Given the description of an element on the screen output the (x, y) to click on. 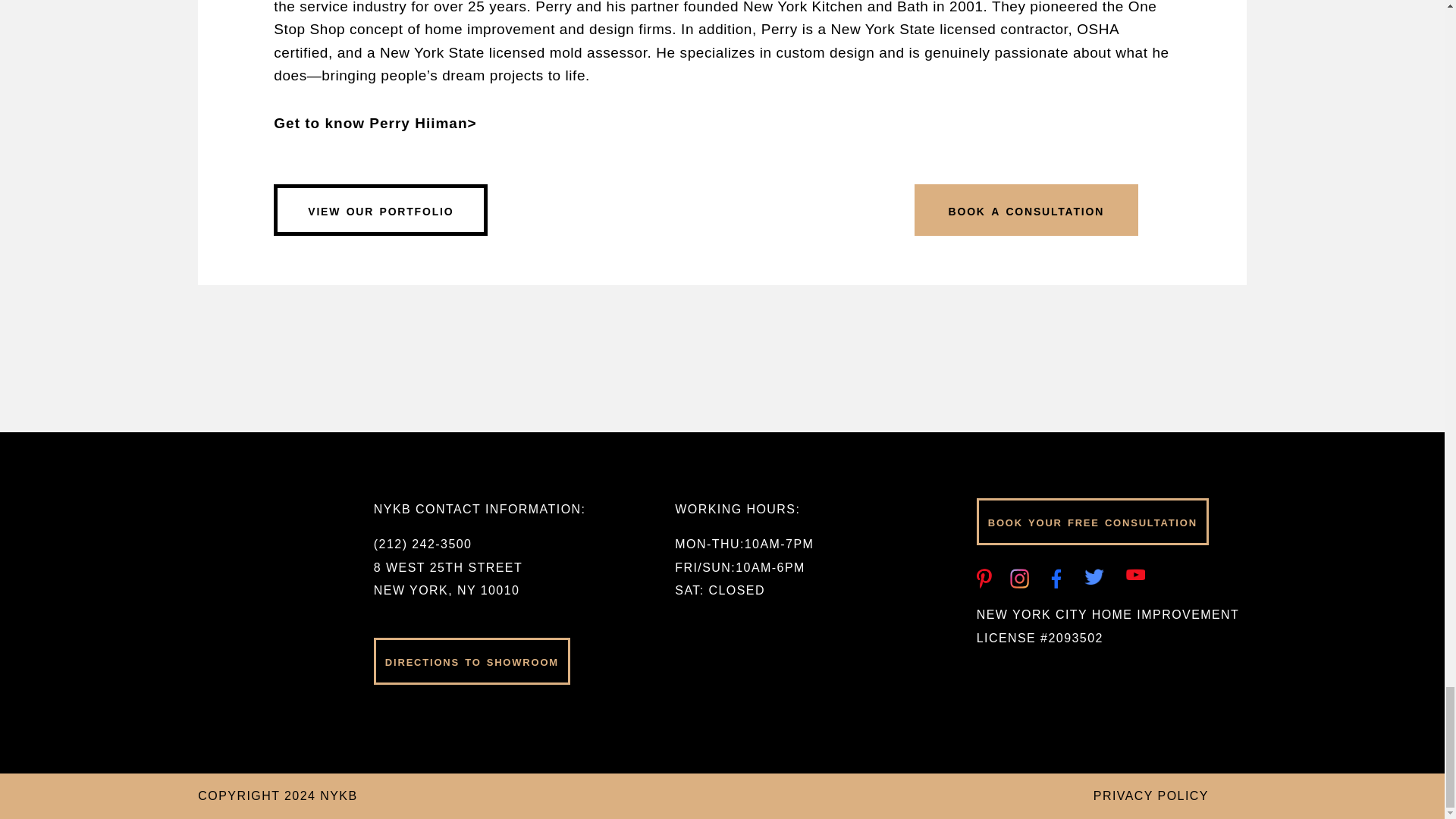
Follow on X (1093, 578)
Follow on Youtube (1134, 578)
Follow on Instagram (1019, 578)
Follow on Pinterest (985, 578)
Follow on Facebook (1060, 578)
